Given the description of an element on the screen output the (x, y) to click on. 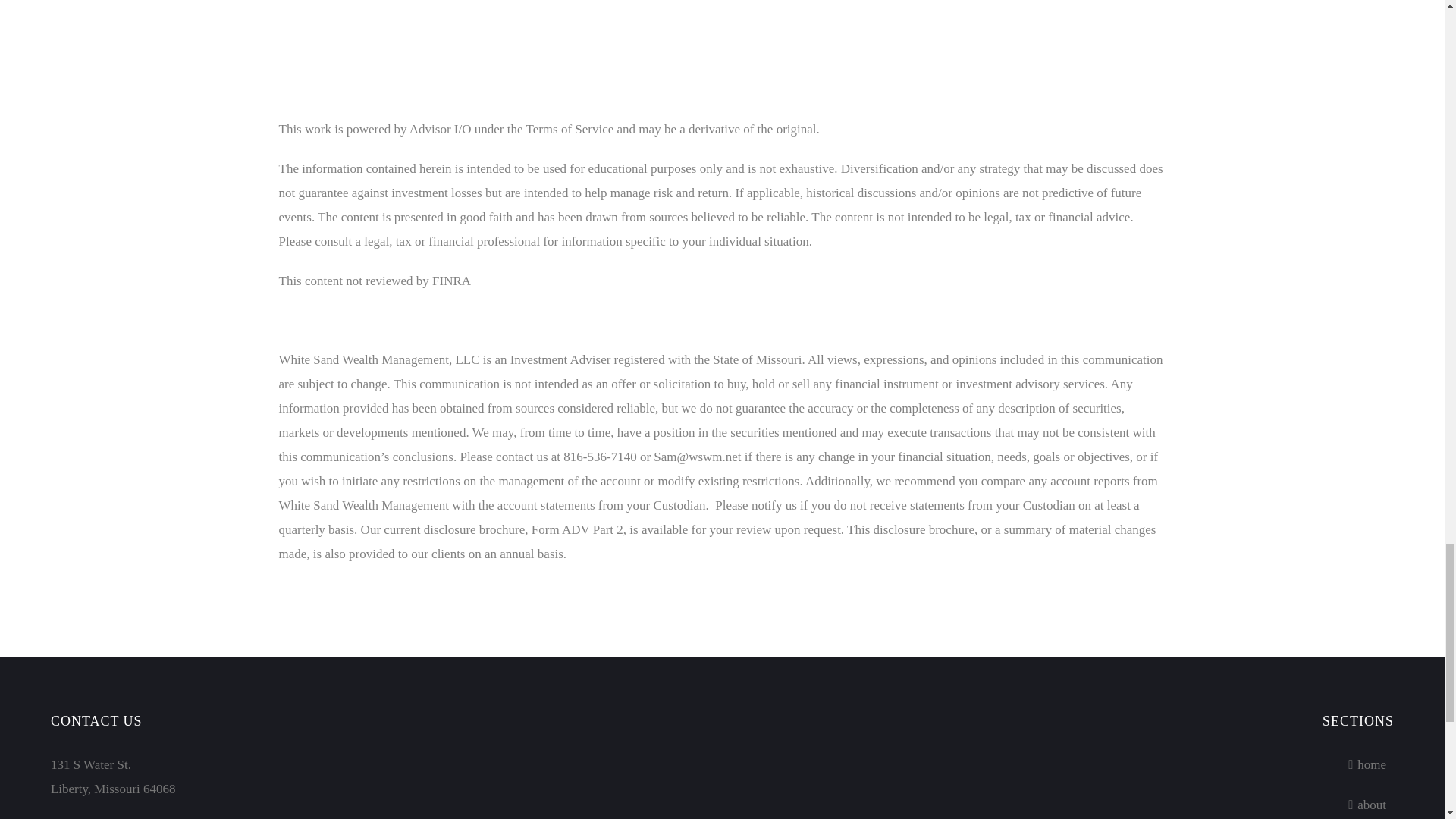
about (1178, 805)
home (1178, 764)
